Given the description of an element on the screen output the (x, y) to click on. 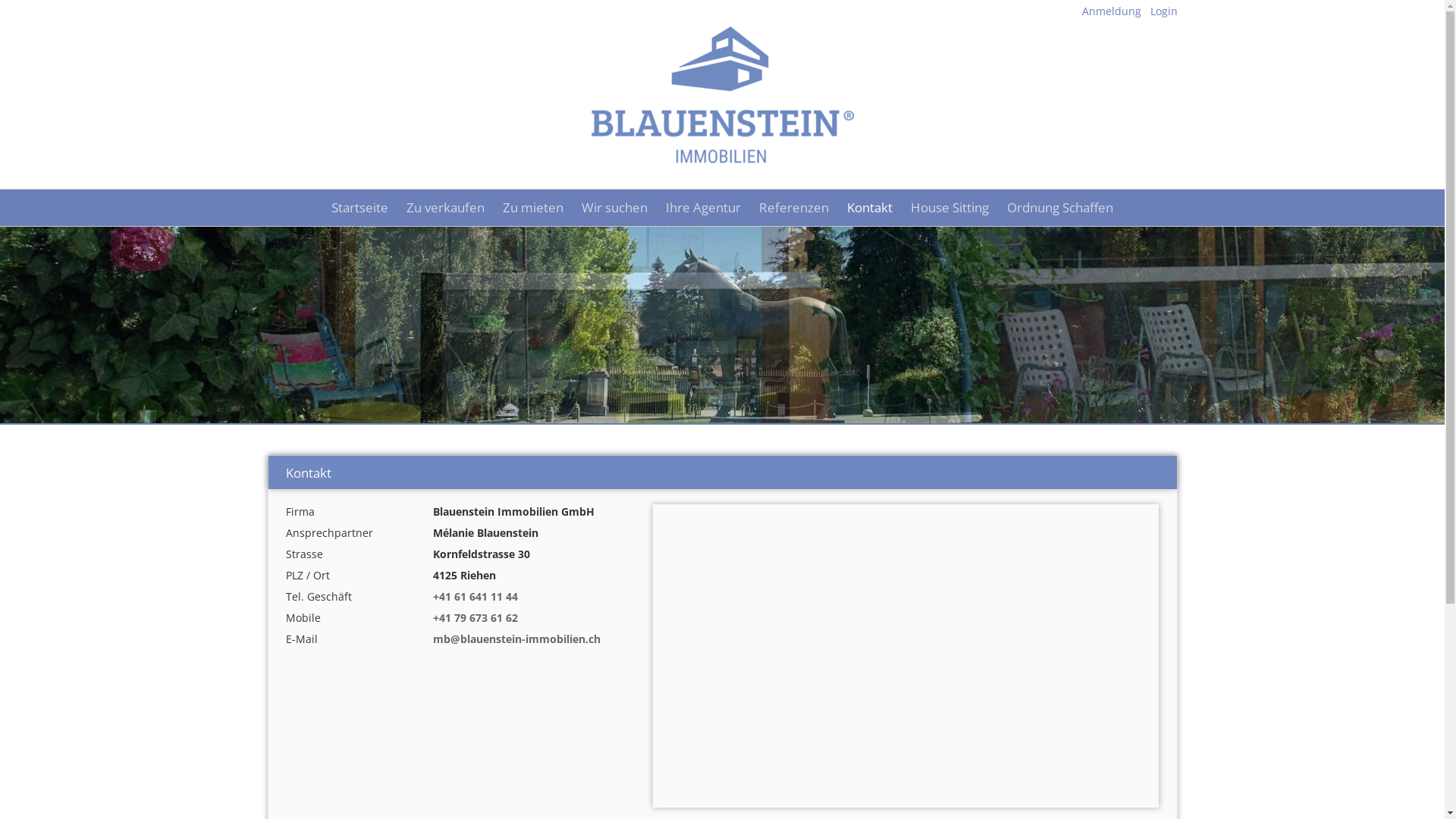
+41 61 641 11 44 Element type: text (475, 596)
Ihre Agentur Element type: text (702, 207)
Anmeldung Element type: text (1110, 10)
mb@blauenstein-immobilien.ch Element type: text (516, 638)
Zu verkaufen Element type: text (445, 207)
Ordnung Schaffen Element type: text (1059, 207)
House Sitting Element type: text (949, 207)
Wir suchen Element type: text (614, 207)
Zu mieten Element type: text (532, 207)
+41 79 673 61 62 Element type: text (475, 617)
Login Element type: text (1162, 10)
Referenzen Element type: text (793, 207)
Kontakt Element type: text (869, 207)
Startseite Element type: text (359, 207)
